Given the description of an element on the screen output the (x, y) to click on. 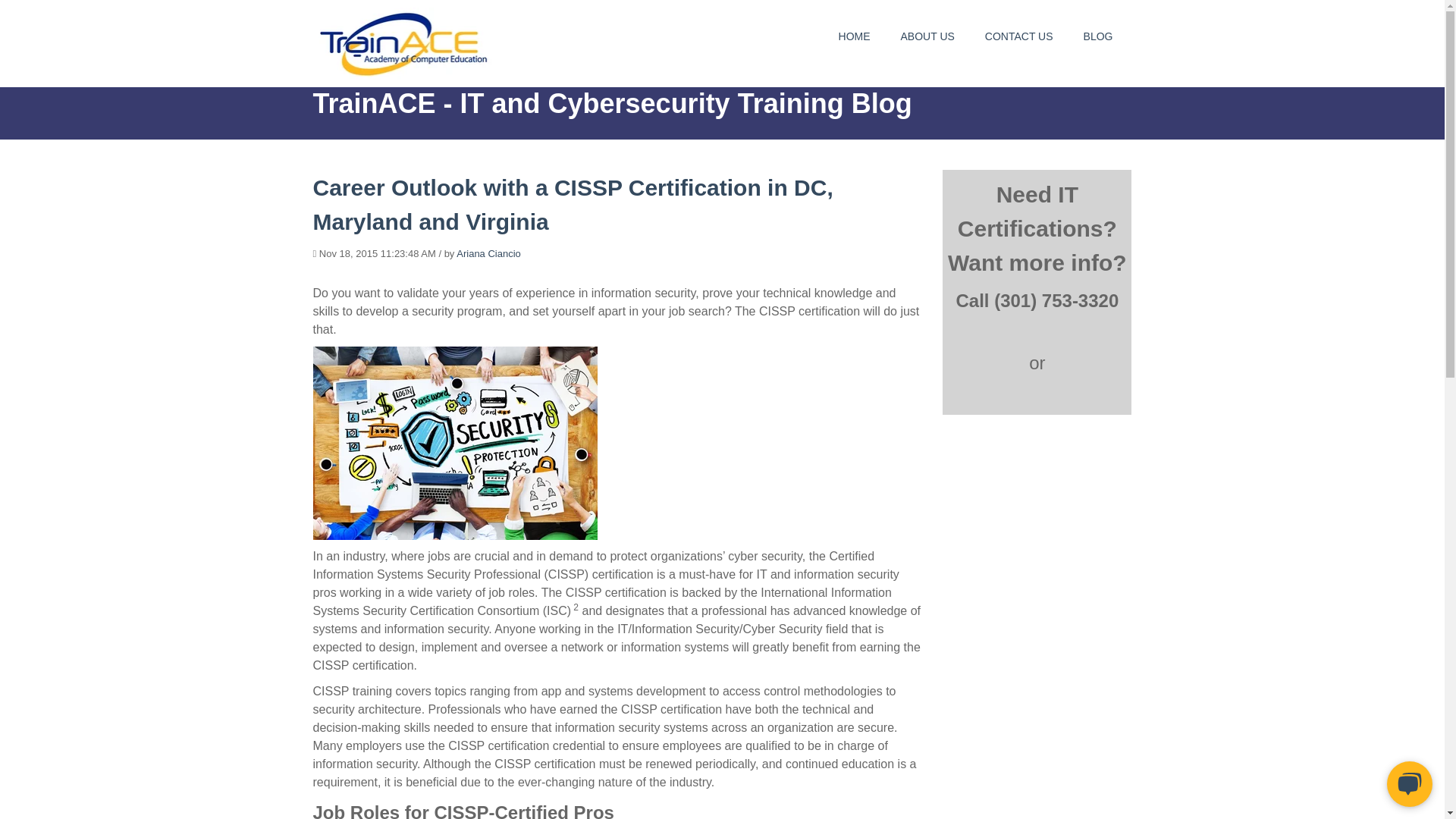
Ariana Ciancio (489, 253)
CONTACT US (1019, 36)
ABOUT US (927, 36)
HOME (854, 36)
TrainACE Logo 300x114 (406, 43)
BLOG (1097, 36)
